Given the description of an element on the screen output the (x, y) to click on. 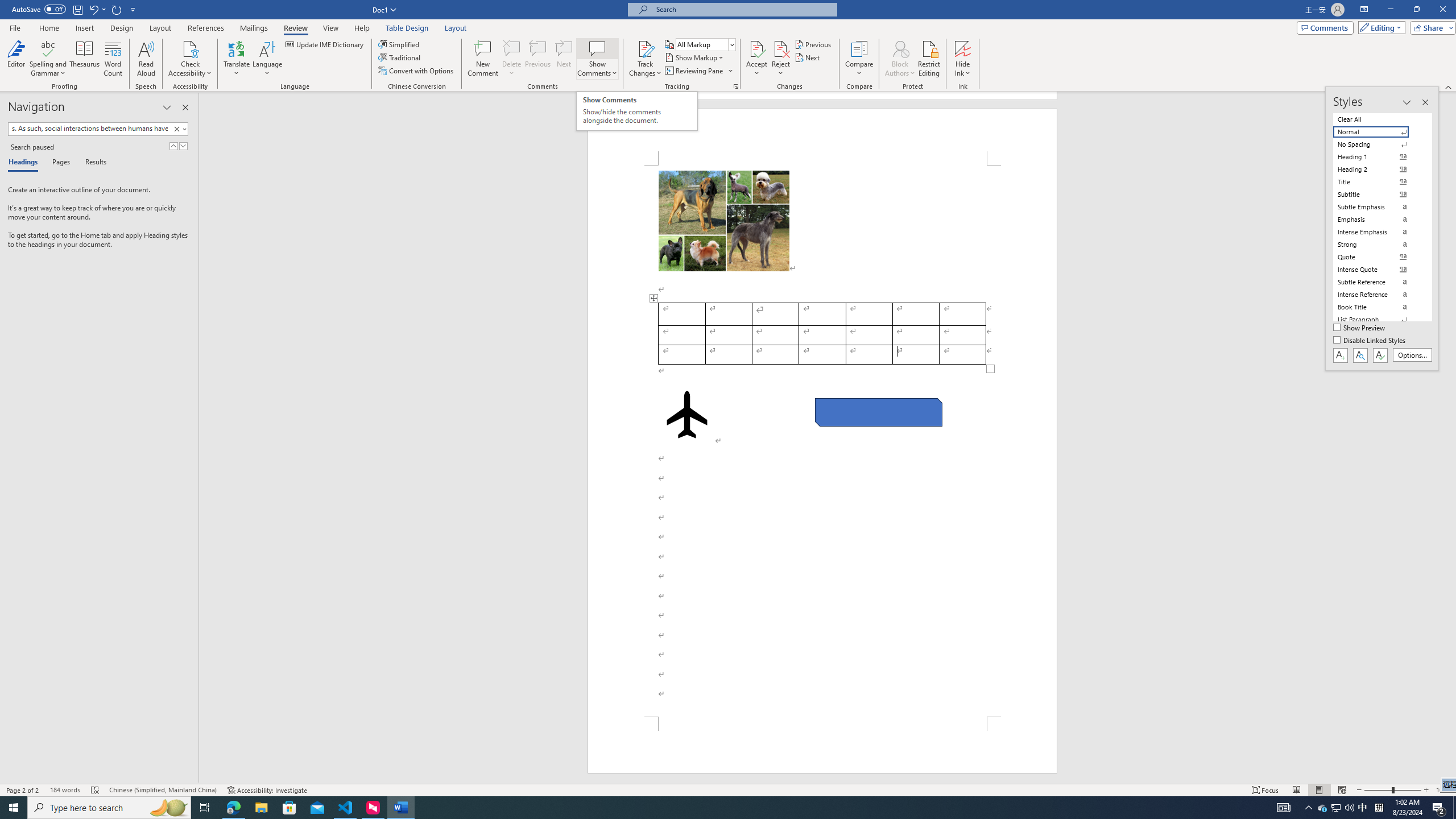
Block Authors (900, 48)
Morphological variation in six dogs (723, 220)
